Given the description of an element on the screen output the (x, y) to click on. 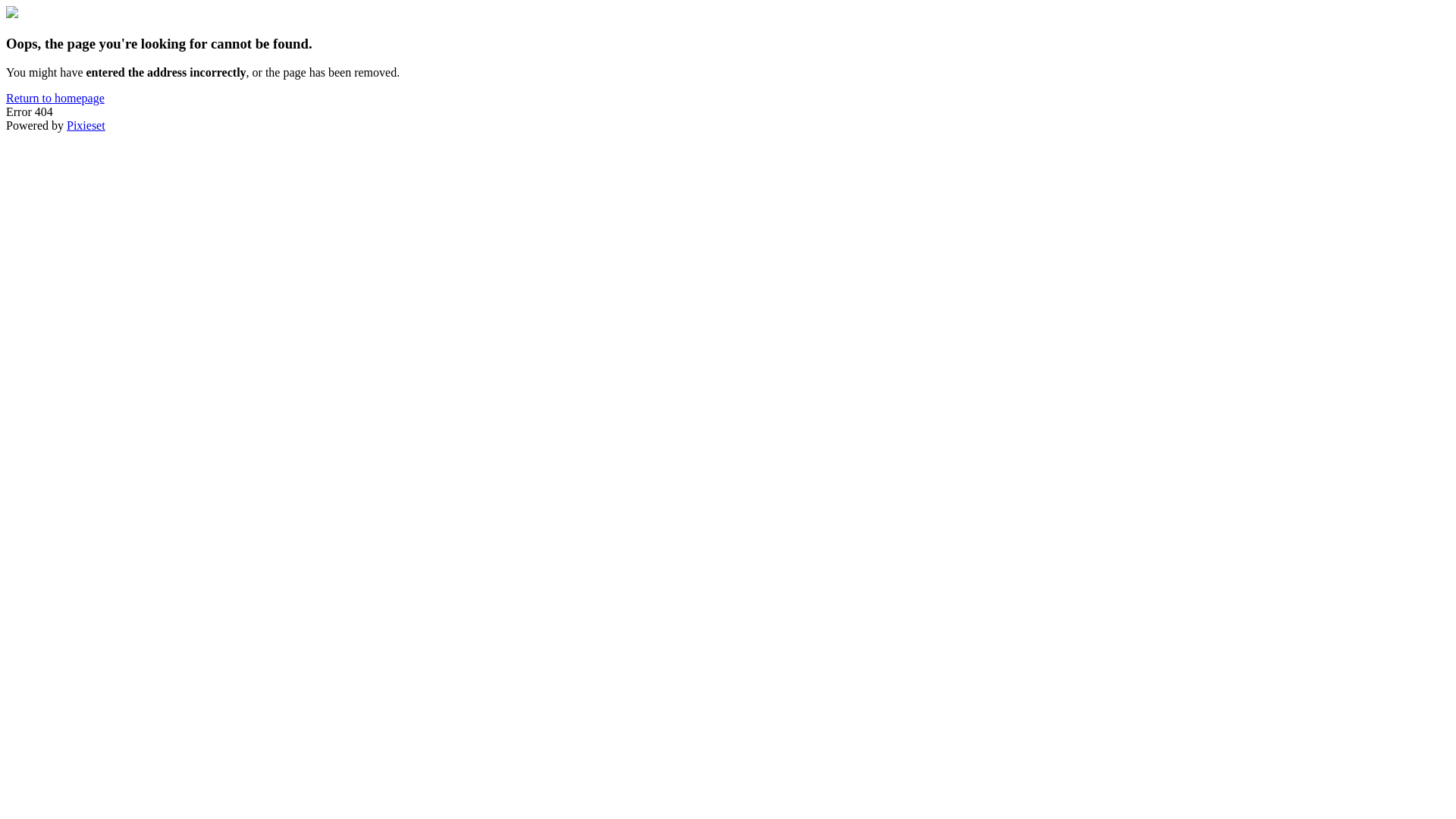
Return to homepage Element type: text (55, 97)
Pixieset Element type: text (85, 125)
